Given the description of an element on the screen output the (x, y) to click on. 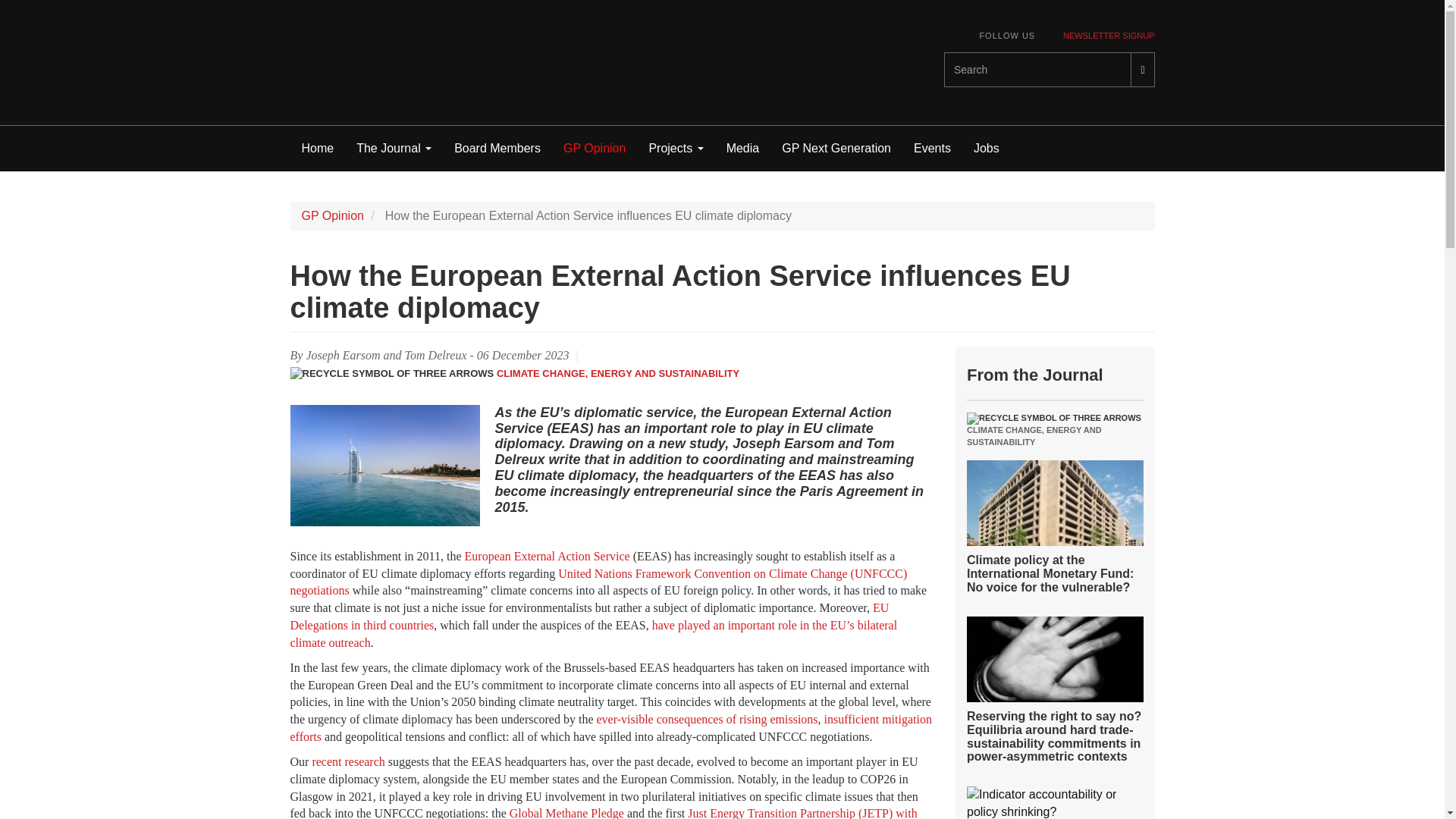
Enter the terms you wish to search for. (1037, 69)
Board Members (496, 148)
Home (317, 148)
Media (742, 148)
GP Opinion (594, 148)
Jobs (986, 148)
Projects (675, 148)
The Journal (393, 148)
European External Action Service (547, 555)
GP Opinion (332, 215)
NEWSLETTER SIGNUP (1108, 36)
GP Next Generation (836, 148)
